Given the description of an element on the screen output the (x, y) to click on. 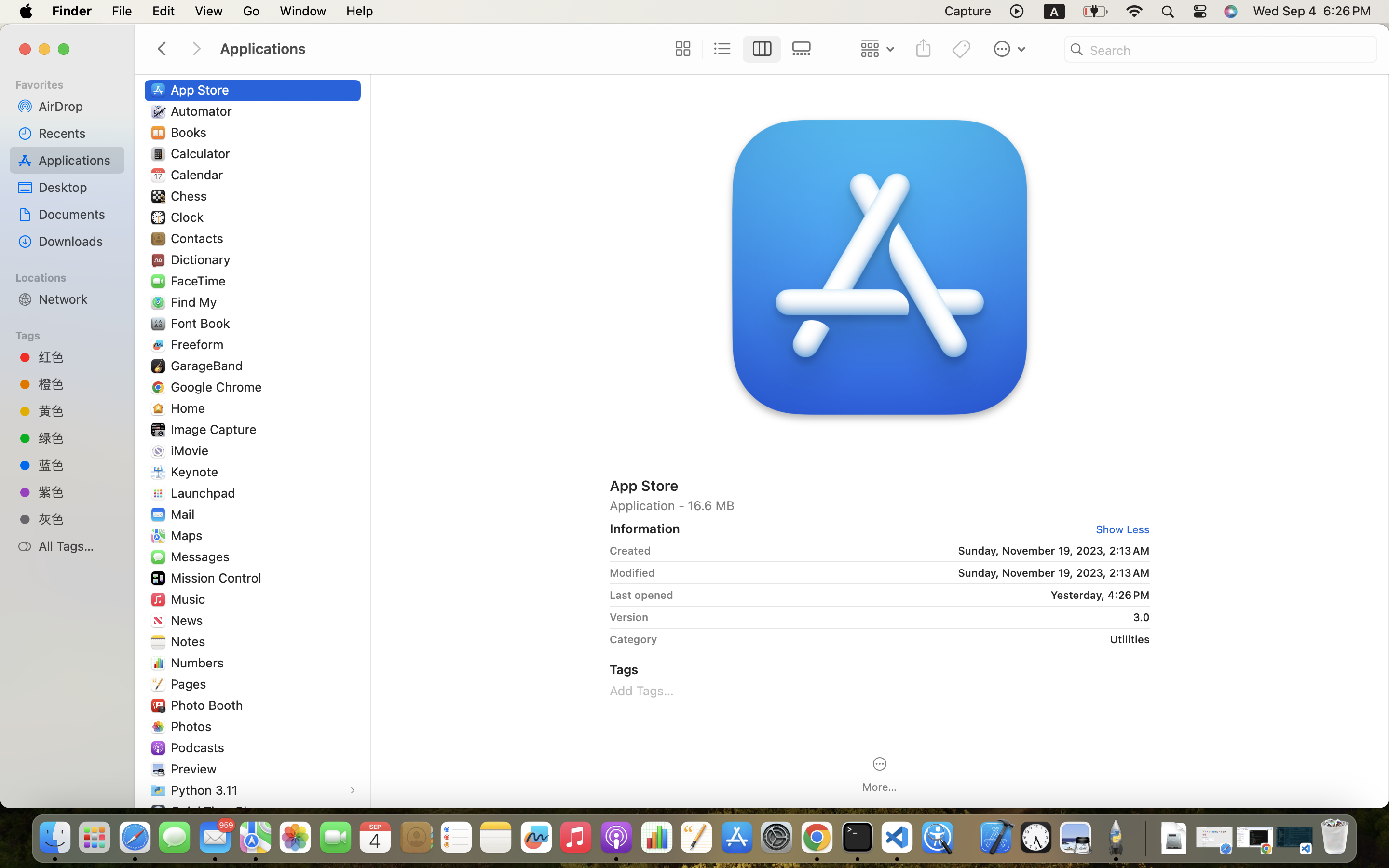
Dictionary Element type: AXTextField (202, 259)
Network Element type: AXStaticText (77, 298)
Applications Element type: AXStaticText (437, 49)
App Store Element type: AXStaticText (879, 484)
Numbers Element type: AXTextField (199, 662)
